Given the description of an element on the screen output the (x, y) to click on. 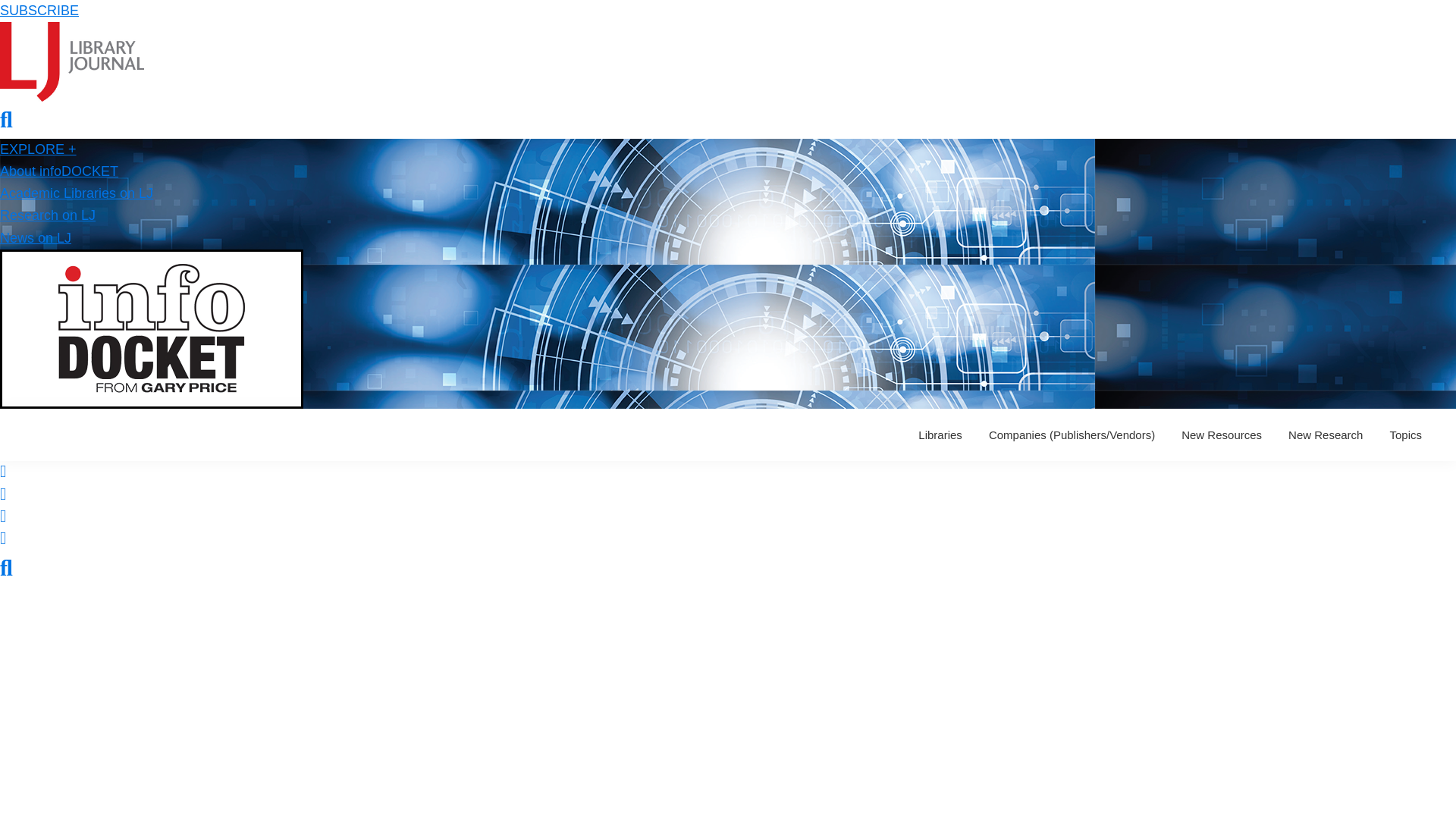
Research on LJ (48, 215)
About infoDOCKET (58, 171)
New Research (1325, 434)
News on LJ (35, 237)
SUBSCRIBE (39, 10)
Academic Libraries on LJ (76, 192)
New Resources (1221, 434)
Libraries (940, 434)
